Given the description of an element on the screen output the (x, y) to click on. 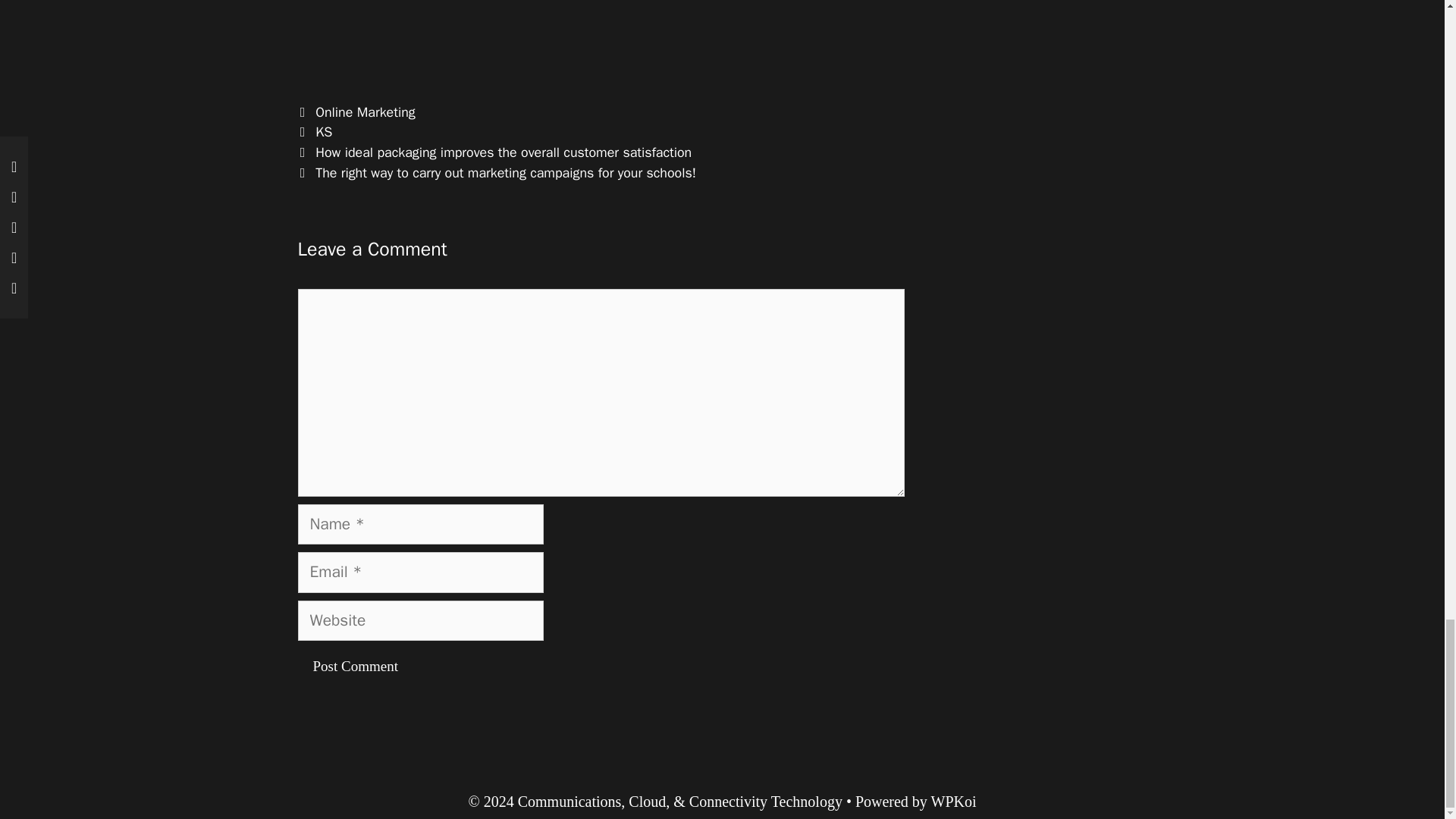
WPKoi (953, 801)
Post Comment (354, 666)
Online Marketing (364, 112)
Previous (494, 152)
KS (323, 131)
Post Comment (354, 666)
Next (496, 172)
